Given the description of an element on the screen output the (x, y) to click on. 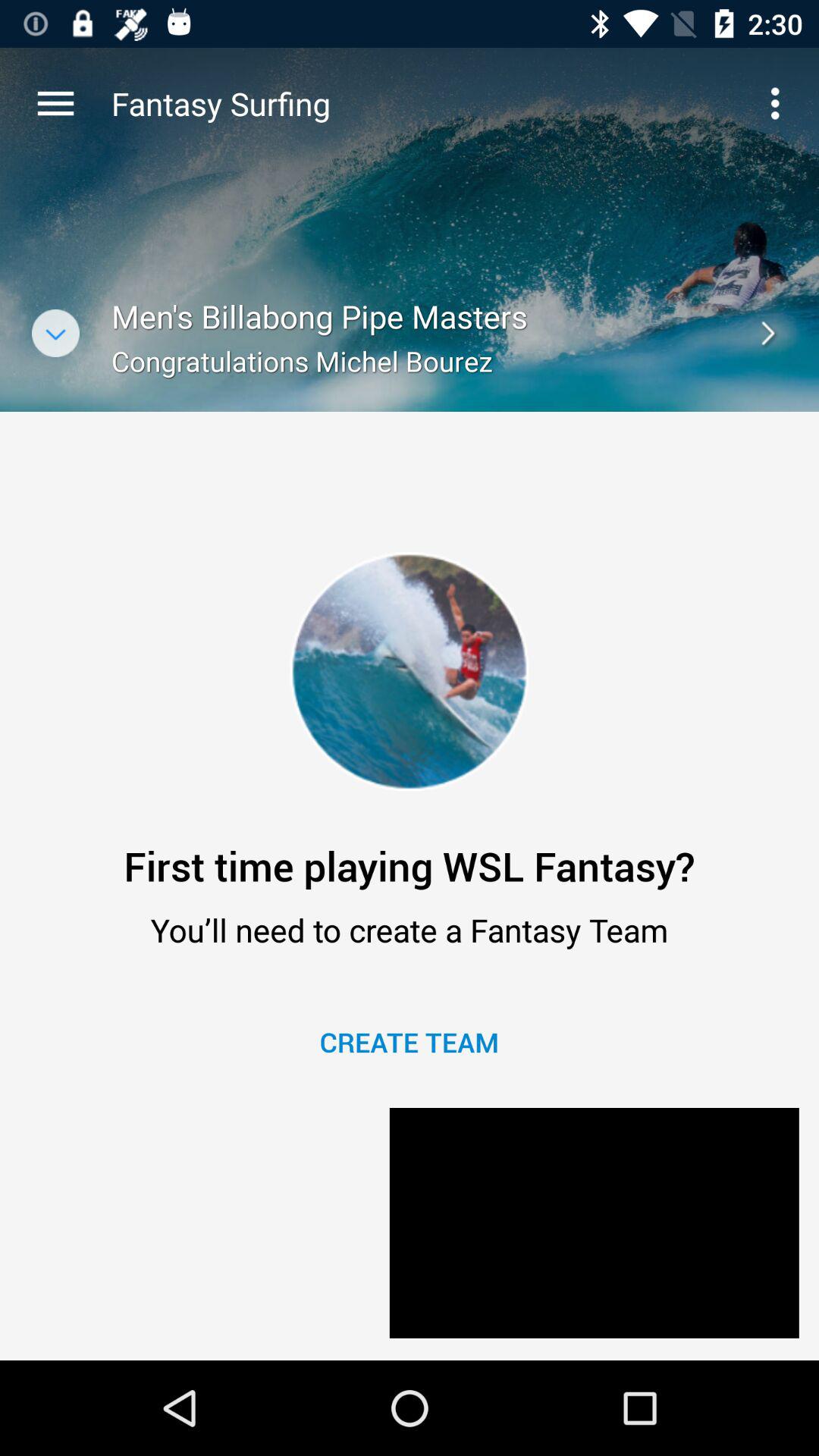
show more information (55, 333)
